Given the description of an element on the screen output the (x, y) to click on. 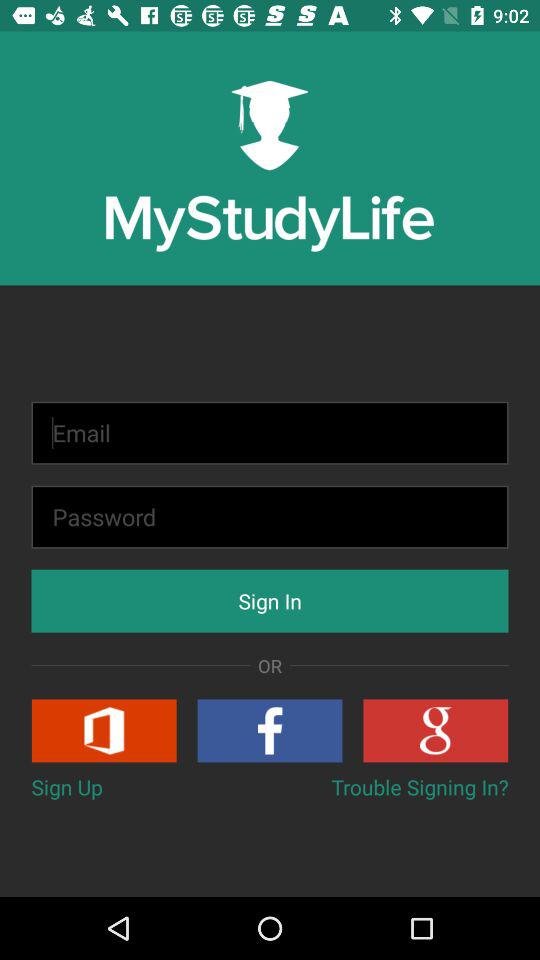
tap icon above sign up button (103, 730)
